Given the description of an element on the screen output the (x, y) to click on. 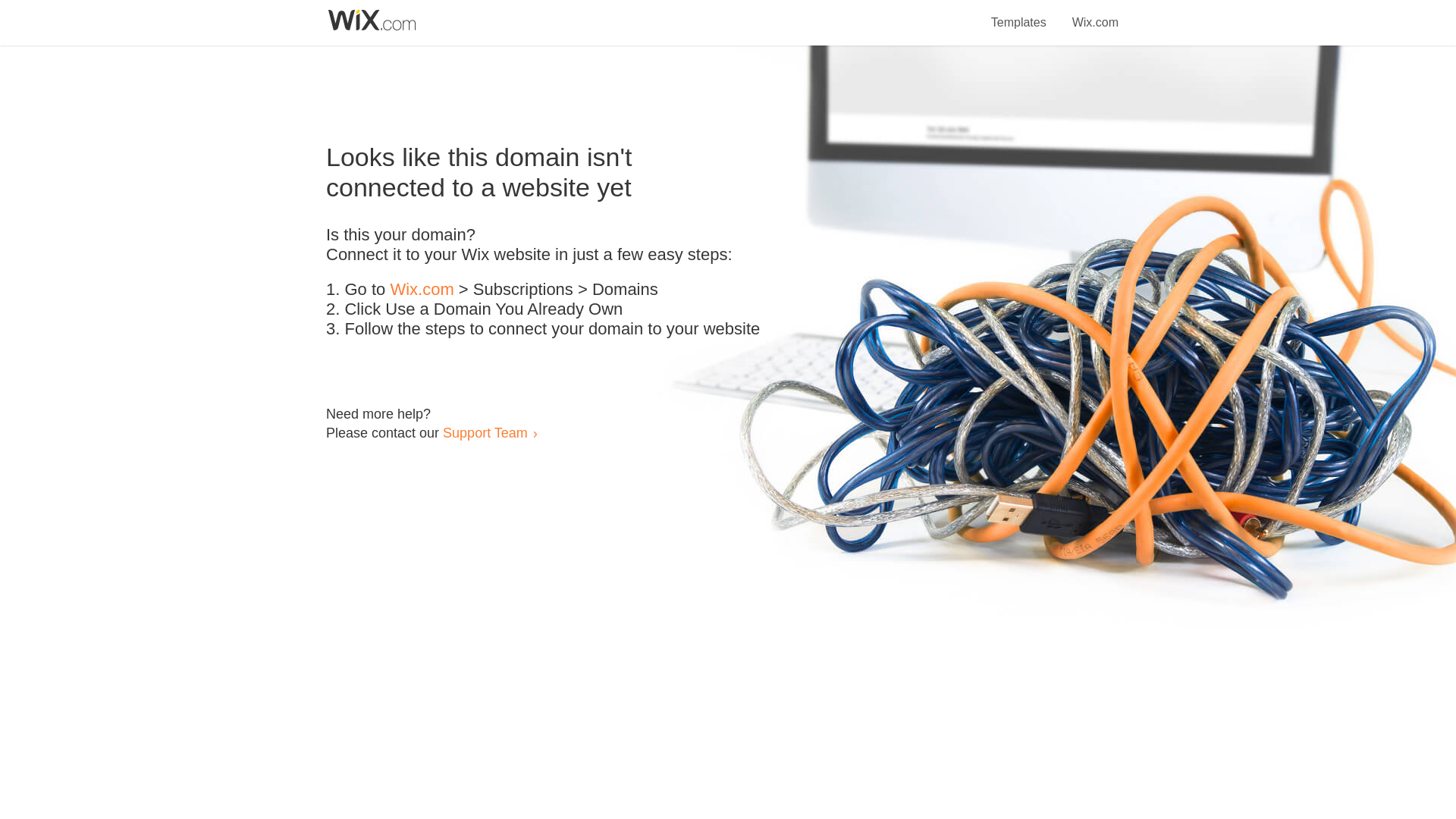
Support Team (484, 432)
Wix.com (421, 289)
Templates (1018, 14)
Wix.com (1095, 14)
